Given the description of an element on the screen output the (x, y) to click on. 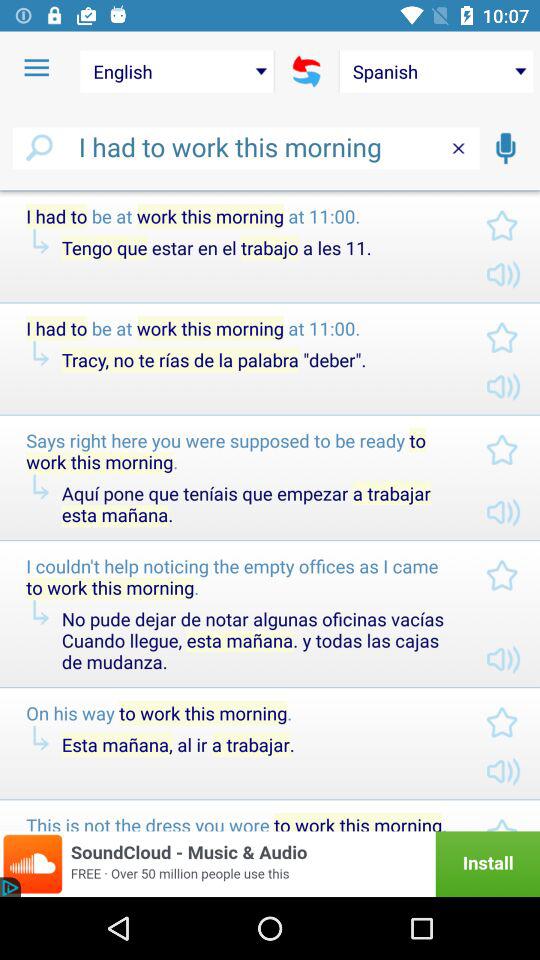
click icon above i had to (306, 71)
